Given the description of an element on the screen output the (x, y) to click on. 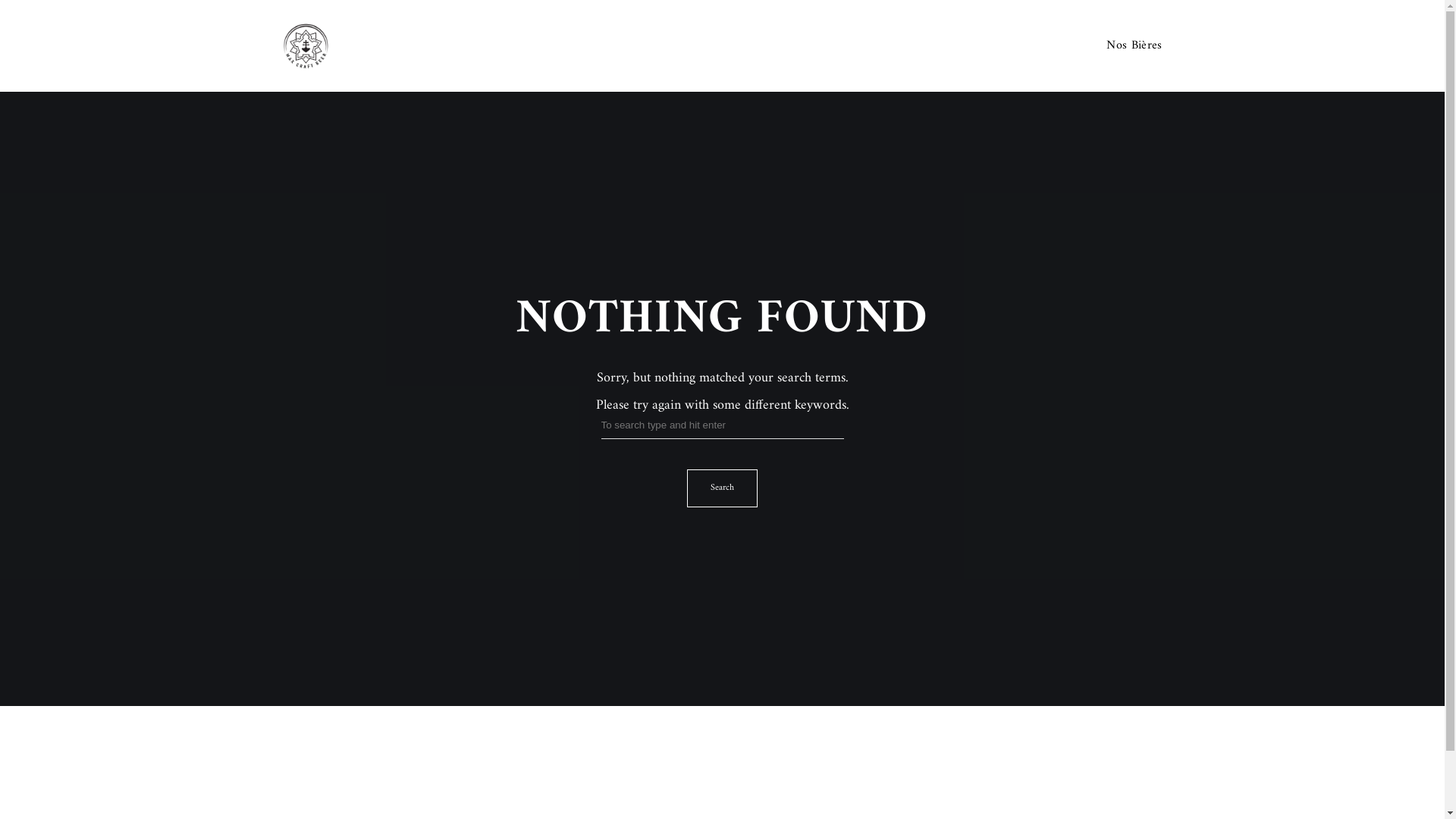
Search for: Element type: hover (721, 429)
Search Element type: text (722, 488)
